Given the description of an element on the screen output the (x, y) to click on. 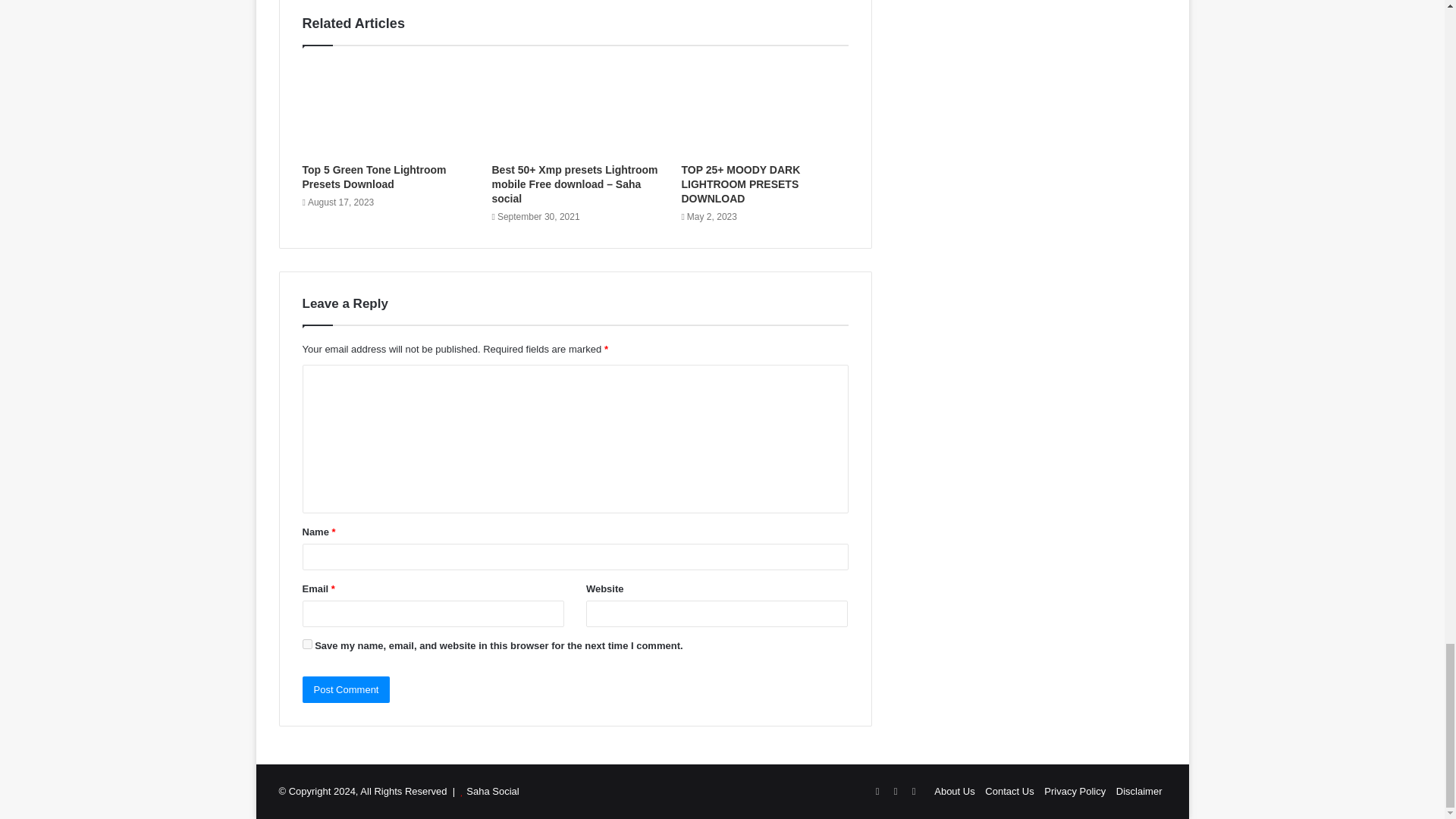
Post Comment (345, 689)
yes (306, 644)
